Given the description of an element on the screen output the (x, y) to click on. 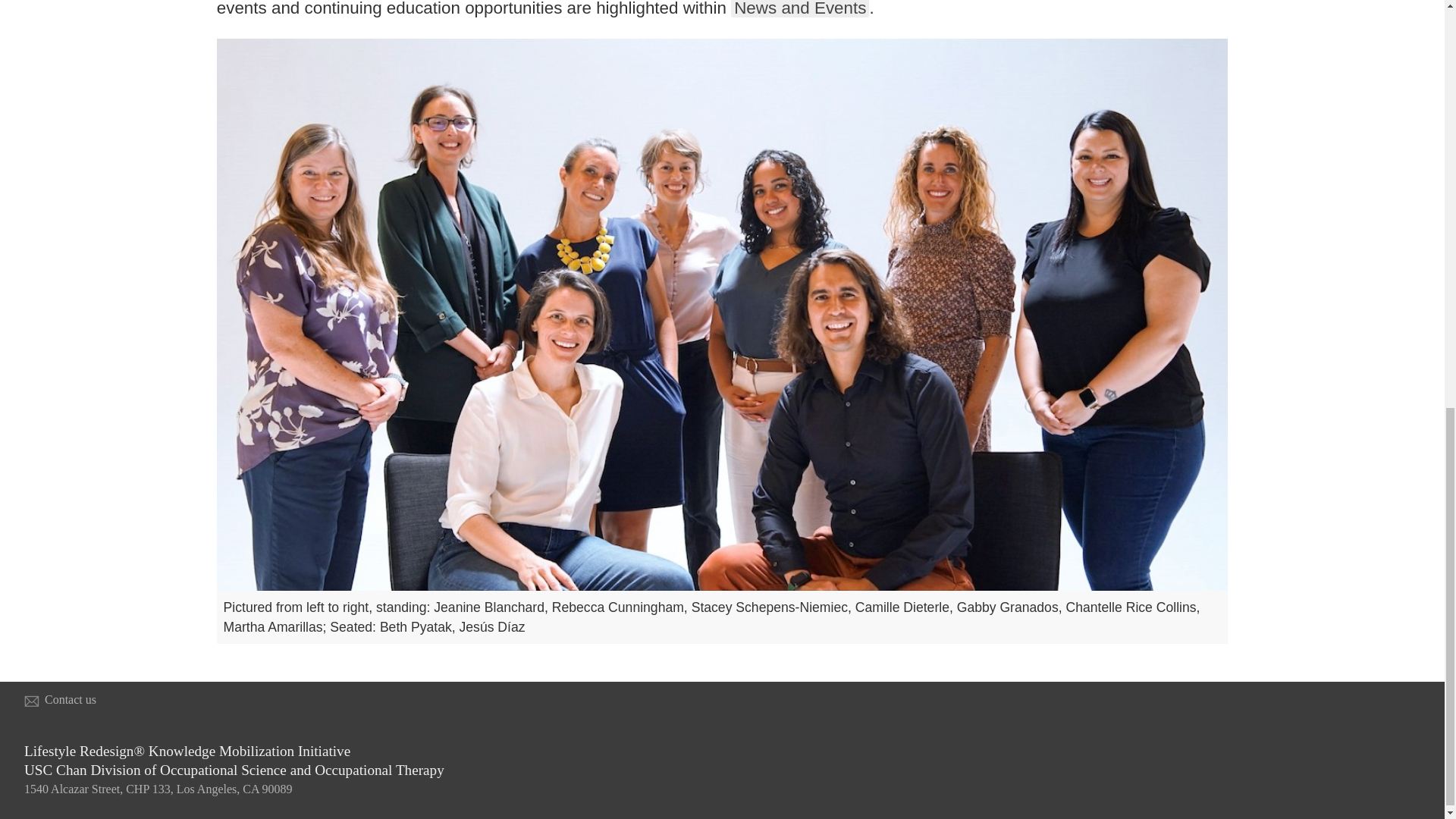
Contact us (70, 698)
News and Events (799, 8)
